Given the description of an element on the screen output the (x, y) to click on. 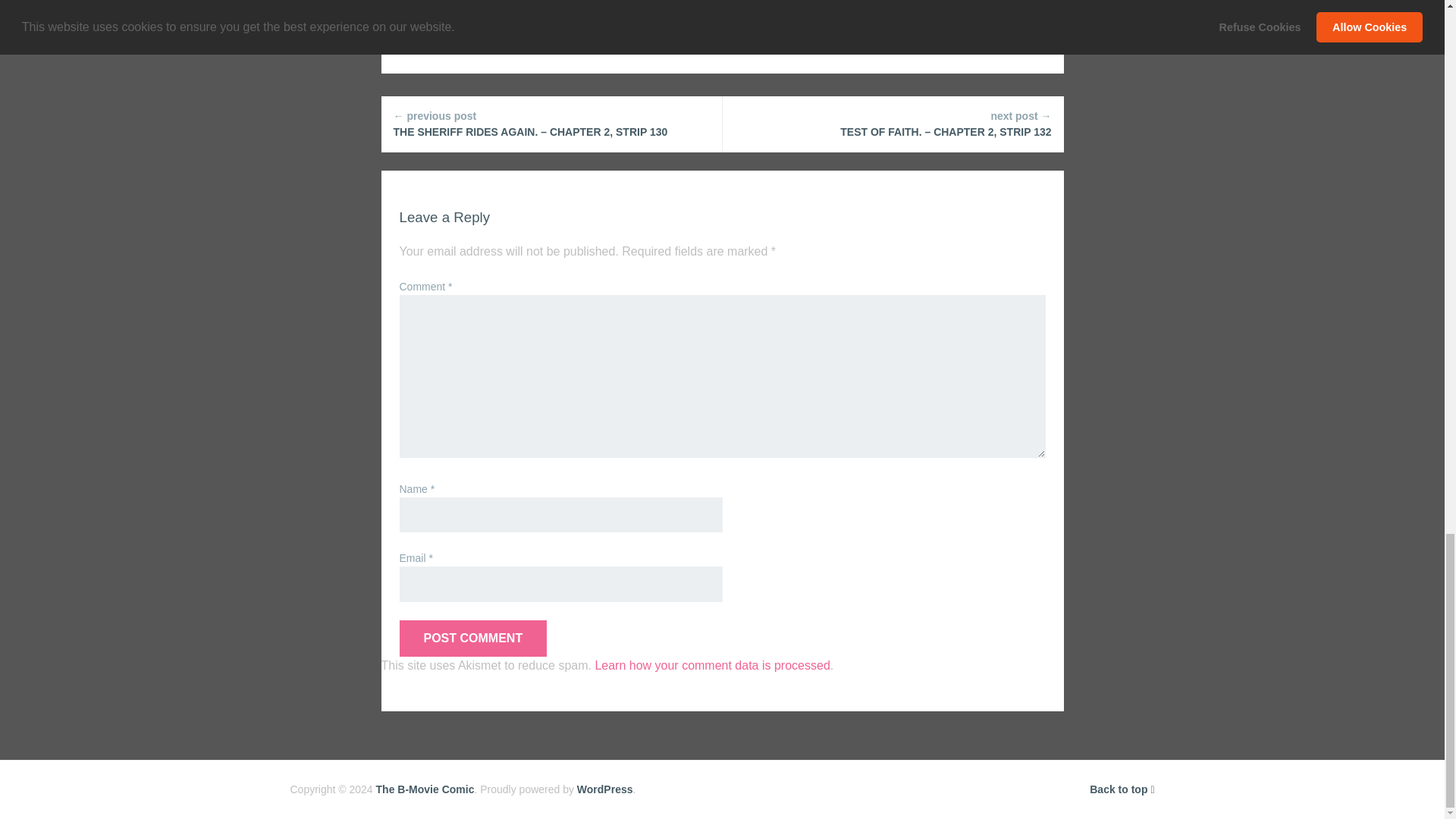
Post Comment (472, 637)
The B-Movie Comic (424, 788)
WordPress (604, 788)
Back to top (1121, 789)
Post Comment (472, 637)
Learn how your comment data is processed (711, 665)
